Given the description of an element on the screen output the (x, y) to click on. 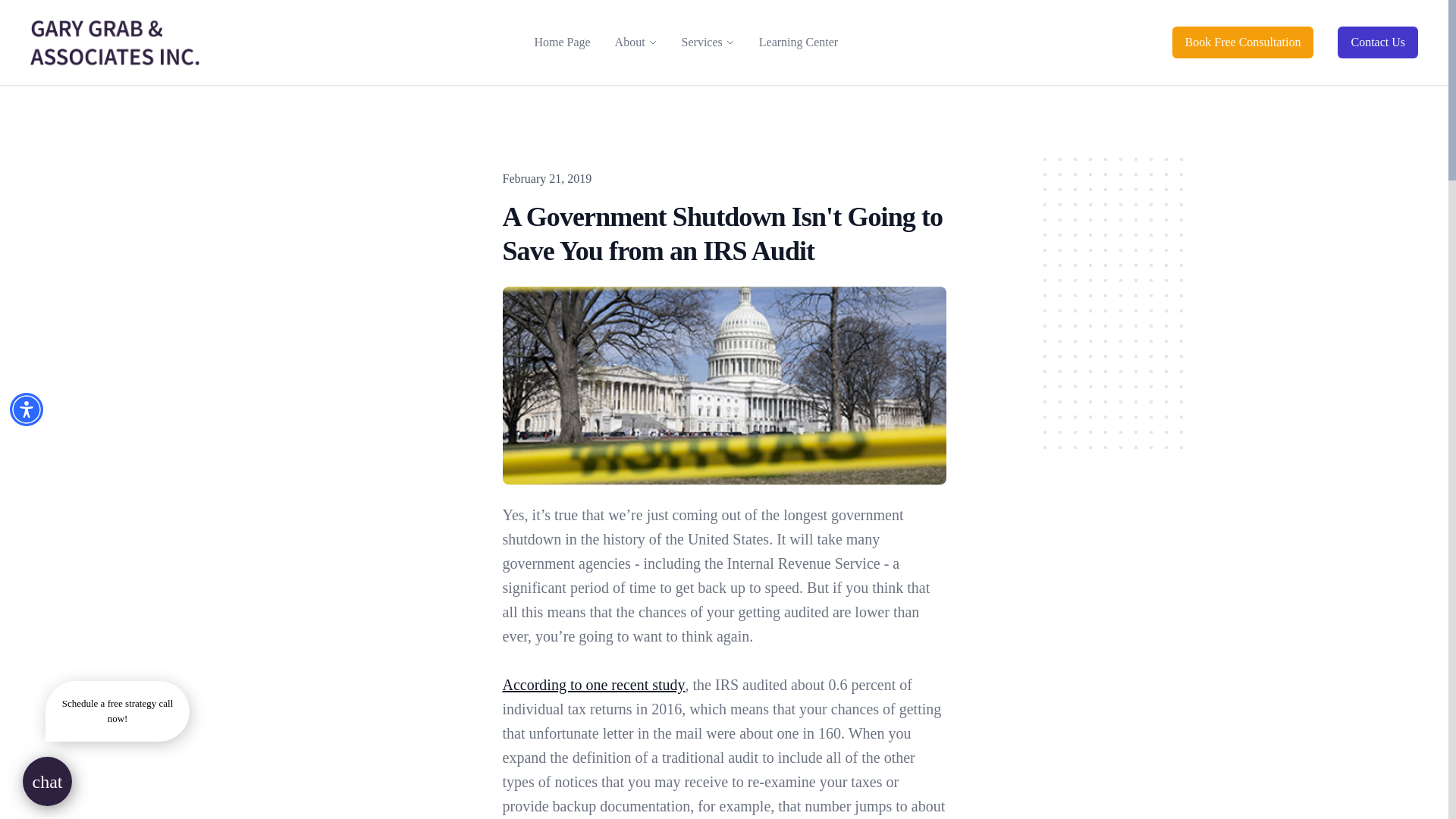
About (629, 42)
Home Page (561, 42)
Learning Center (798, 42)
www.garygrab.com (115, 42)
Services (701, 42)
Home Page (561, 42)
Book Free Consultation (1243, 42)
Contact Us (1378, 42)
Accessibility Menu (26, 409)
